Given the description of an element on the screen output the (x, y) to click on. 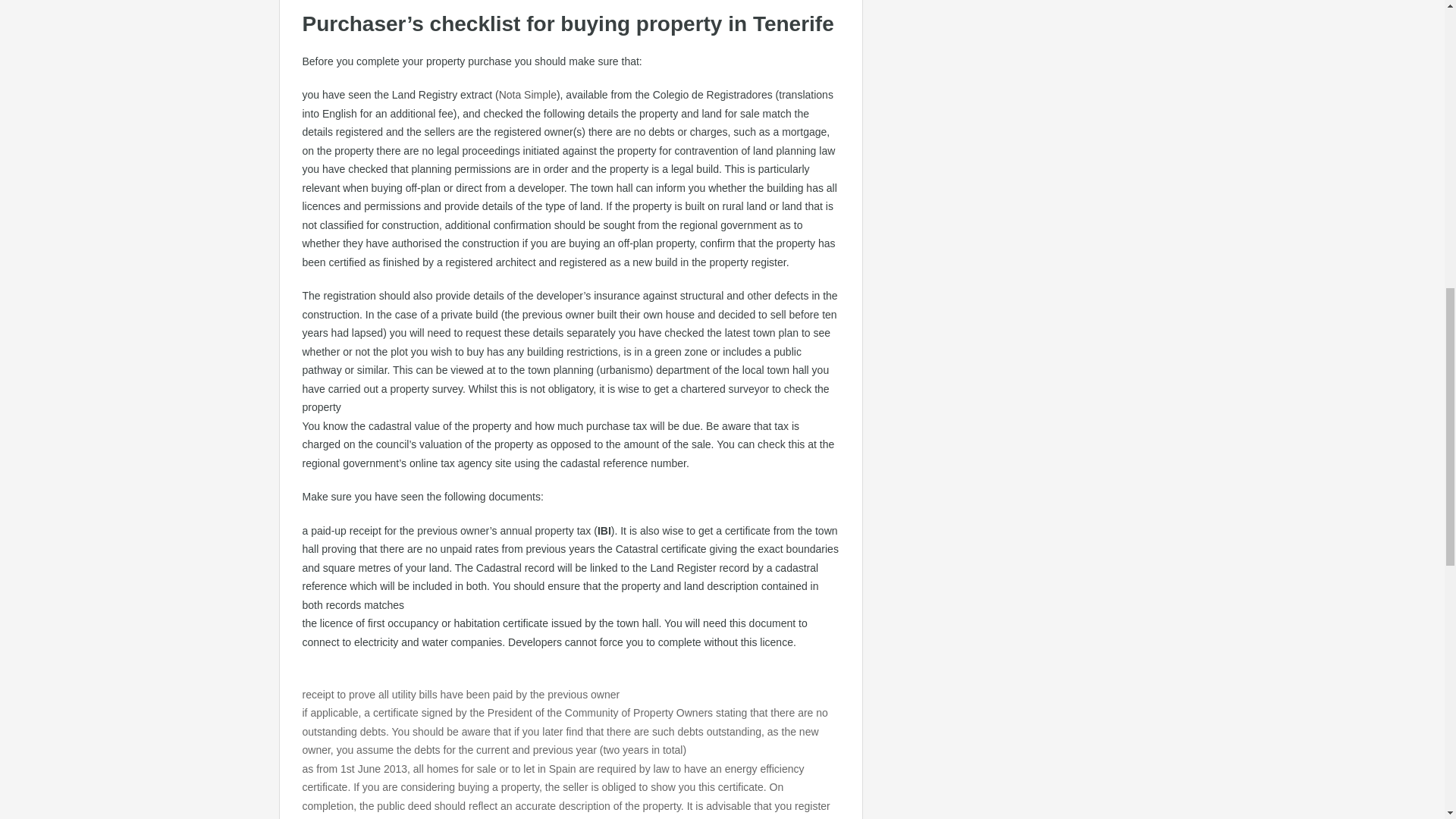
Nota Simple (527, 94)
